Given the description of an element on the screen output the (x, y) to click on. 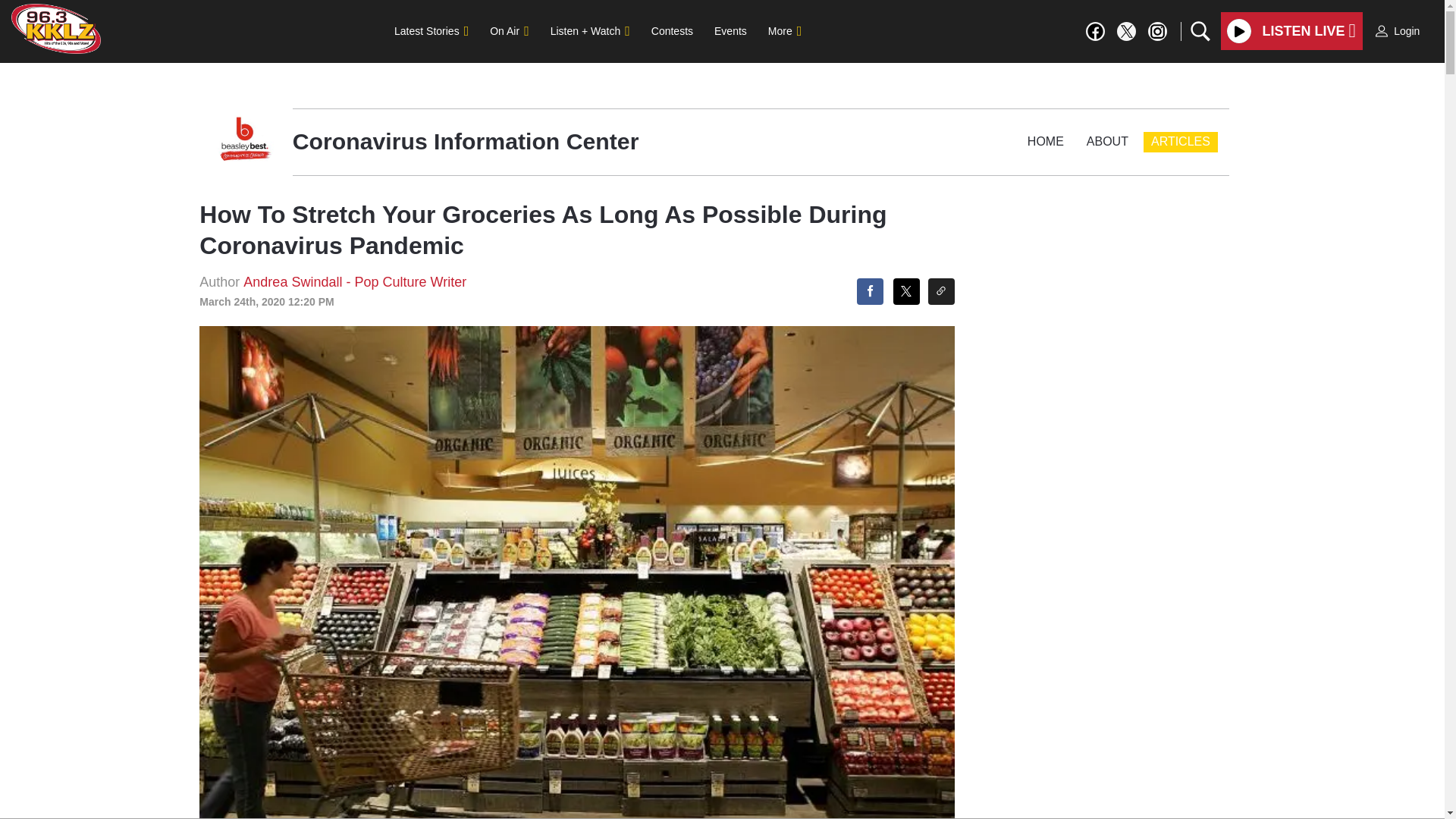
On Air (508, 30)
Andrea Swindall - Pop Culture Writer (354, 281)
Latest Stories (431, 30)
